Given the description of an element on the screen output the (x, y) to click on. 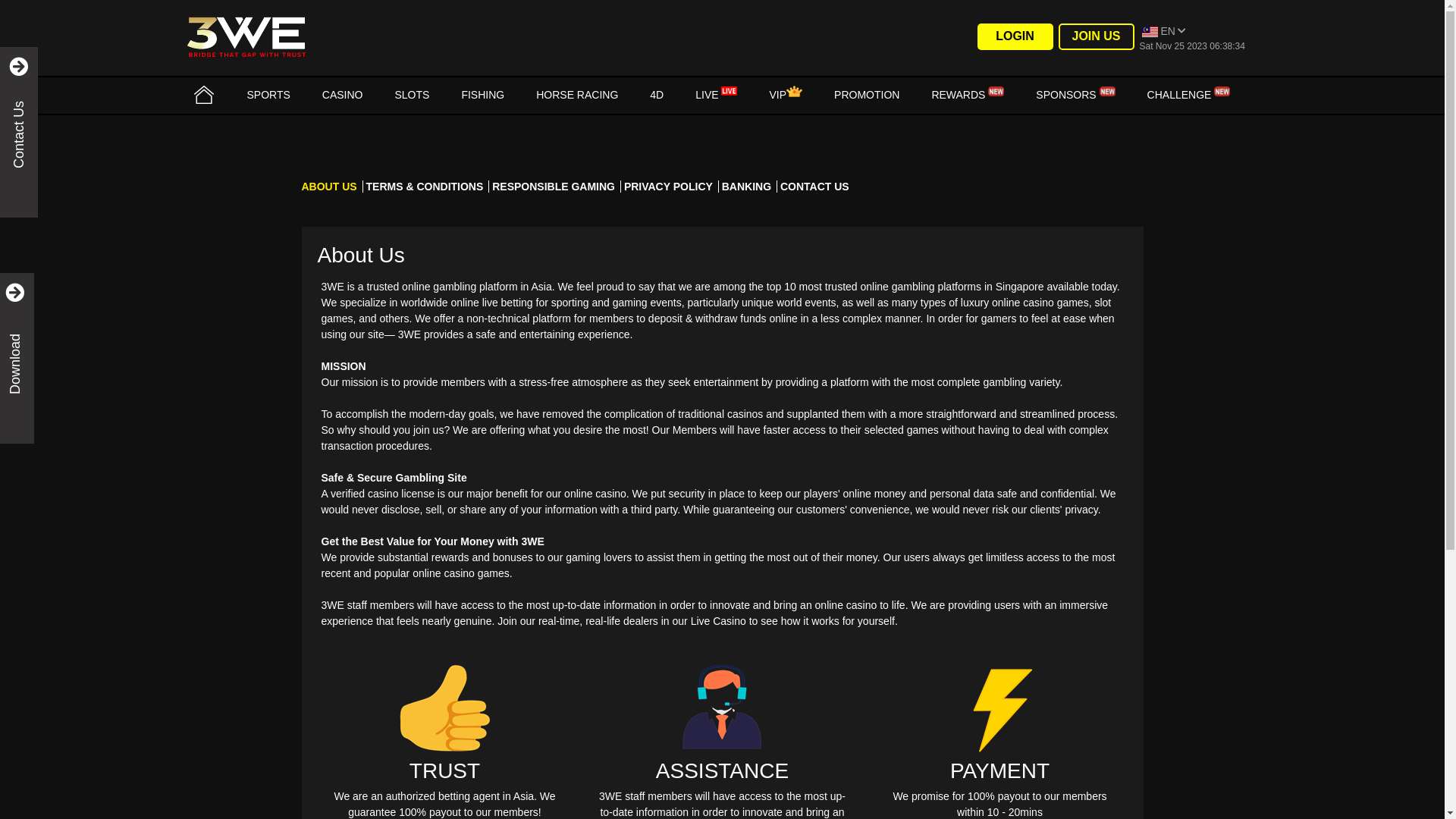
PRIVACY POLICY Element type: text (671, 186)
LOGIN Element type: text (1014, 35)
CHALLENGE Element type: text (1188, 94)
REWARDS Element type: text (967, 94)
CONTACT US Element type: text (814, 186)
ABOUT US Element type: text (332, 186)
SPORTS Element type: text (268, 94)
JOIN US Element type: text (1096, 35)
SLOTS Element type: text (411, 94)
HORSE RACING Element type: text (577, 94)
RESPONSIBLE GAMING Element type: text (556, 186)
4D Element type: text (656, 94)
SPONSORS Element type: text (1074, 94)
LOGIN Element type: text (1014, 35)
JOIN US Element type: text (1095, 35)
VIP Element type: text (785, 94)
FISHING Element type: text (482, 94)
LIVE Element type: text (716, 94)
TERMS & CONDITIONS Element type: text (427, 186)
CASINO Element type: text (342, 94)
BANKING Element type: text (749, 186)
PROMOTION Element type: text (866, 94)
